Given the description of an element on the screen output the (x, y) to click on. 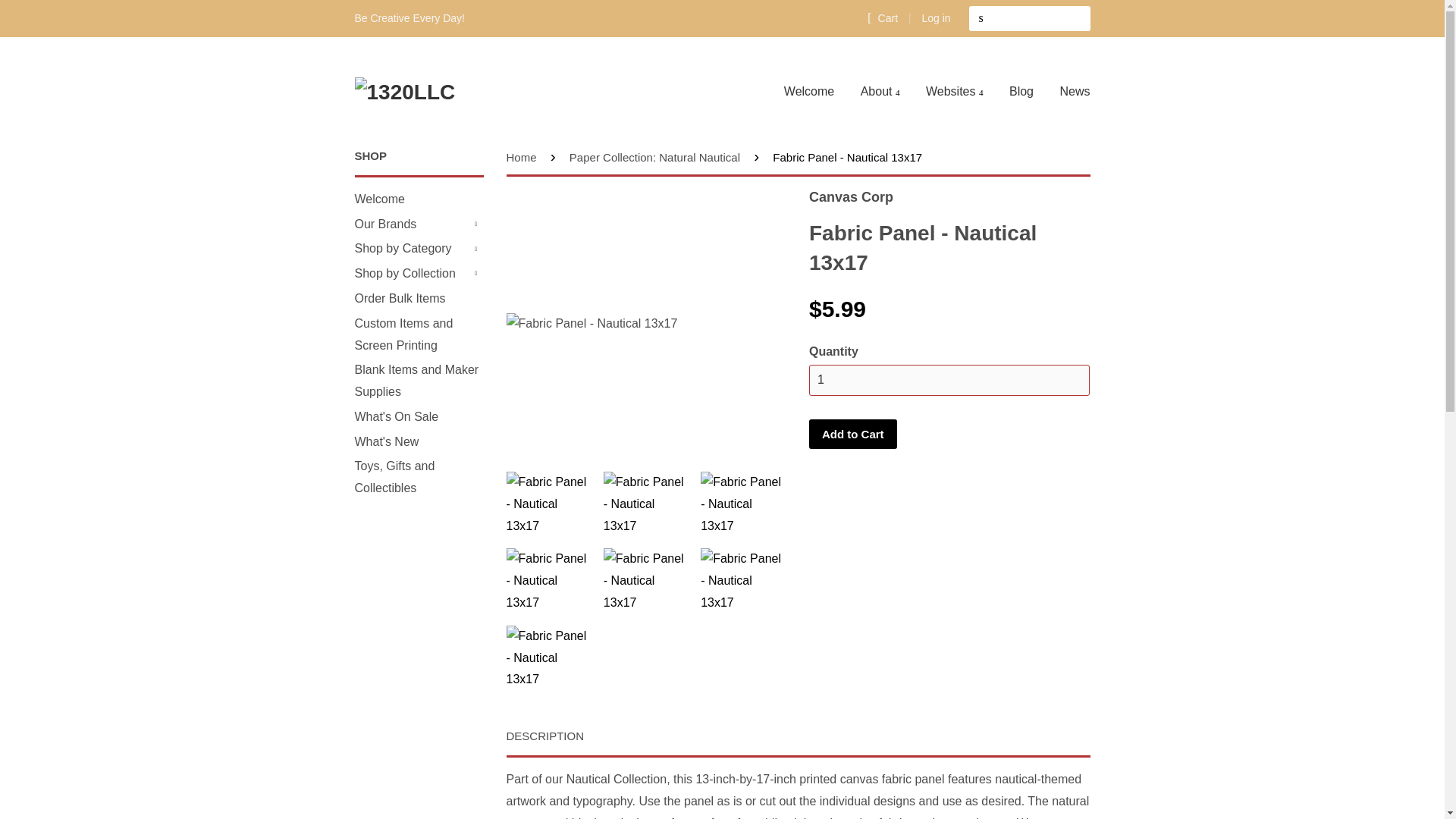
1 (949, 379)
Log in (935, 18)
Search (980, 18)
Cart (882, 17)
Back to the frontpage (523, 156)
